Given the description of an element on the screen output the (x, y) to click on. 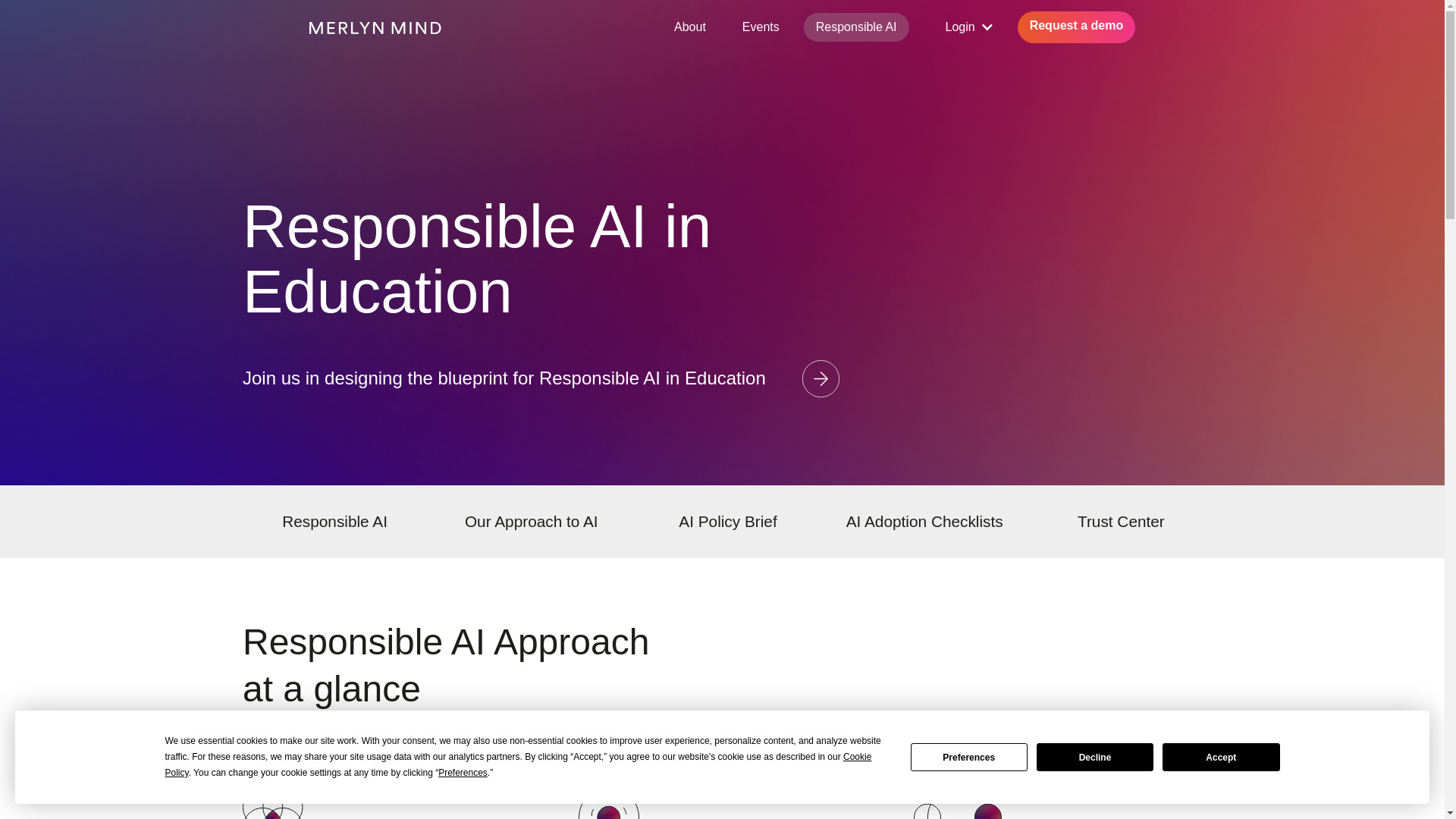
Preferences (969, 756)
Our Approach to AI (531, 521)
About (689, 27)
Trust Center (1120, 521)
Request a demo (1076, 26)
Accept (1220, 756)
Events (761, 27)
Responsible AI (855, 27)
AI Policy Brief (726, 521)
AI Adoption Checklists (924, 521)
Responsible AI (334, 521)
Decline (1094, 756)
